Given the description of an element on the screen output the (x, y) to click on. 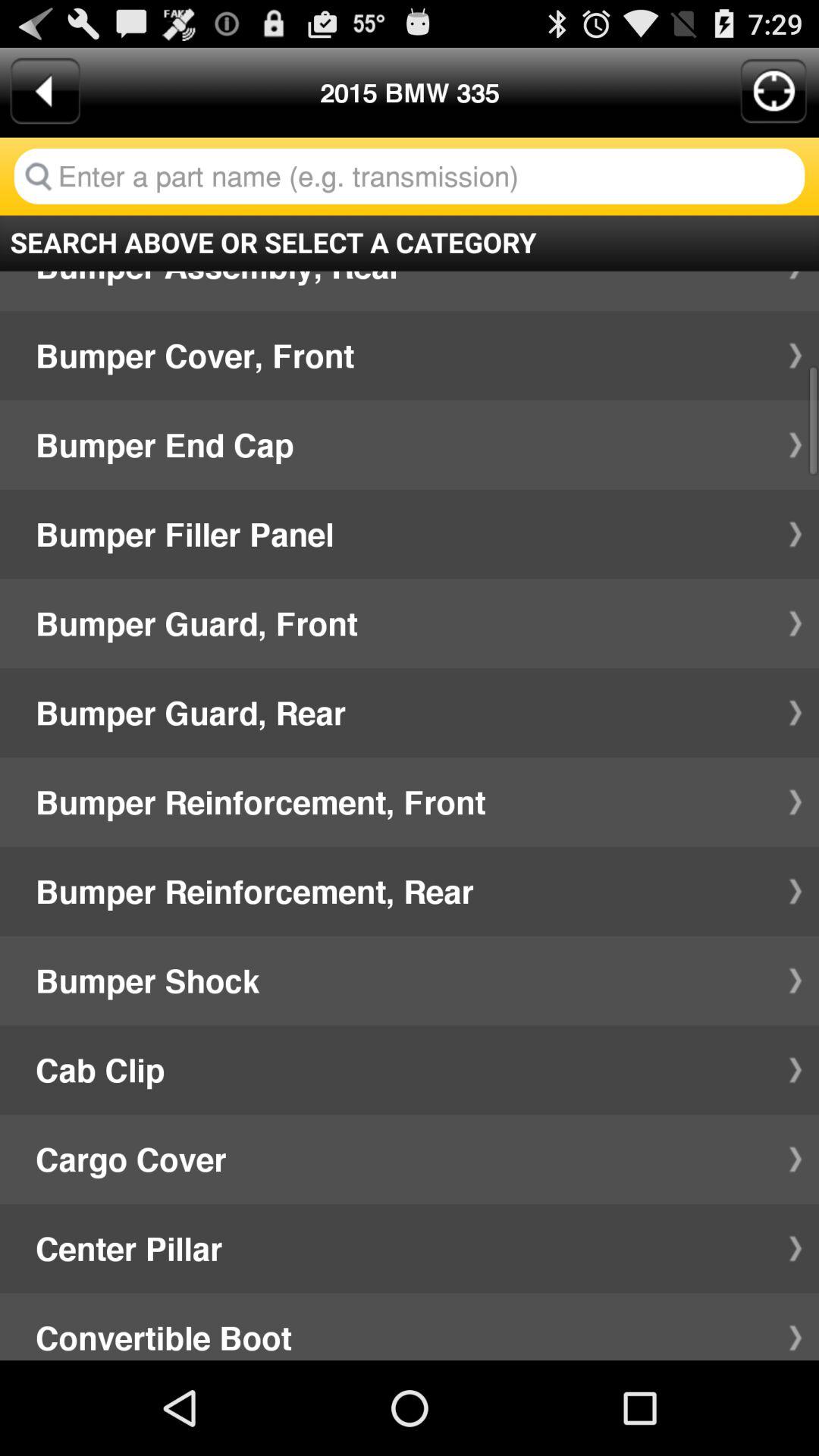
open icon to the right of 2015 bmw 335 app (773, 90)
